Given the description of an element on the screen output the (x, y) to click on. 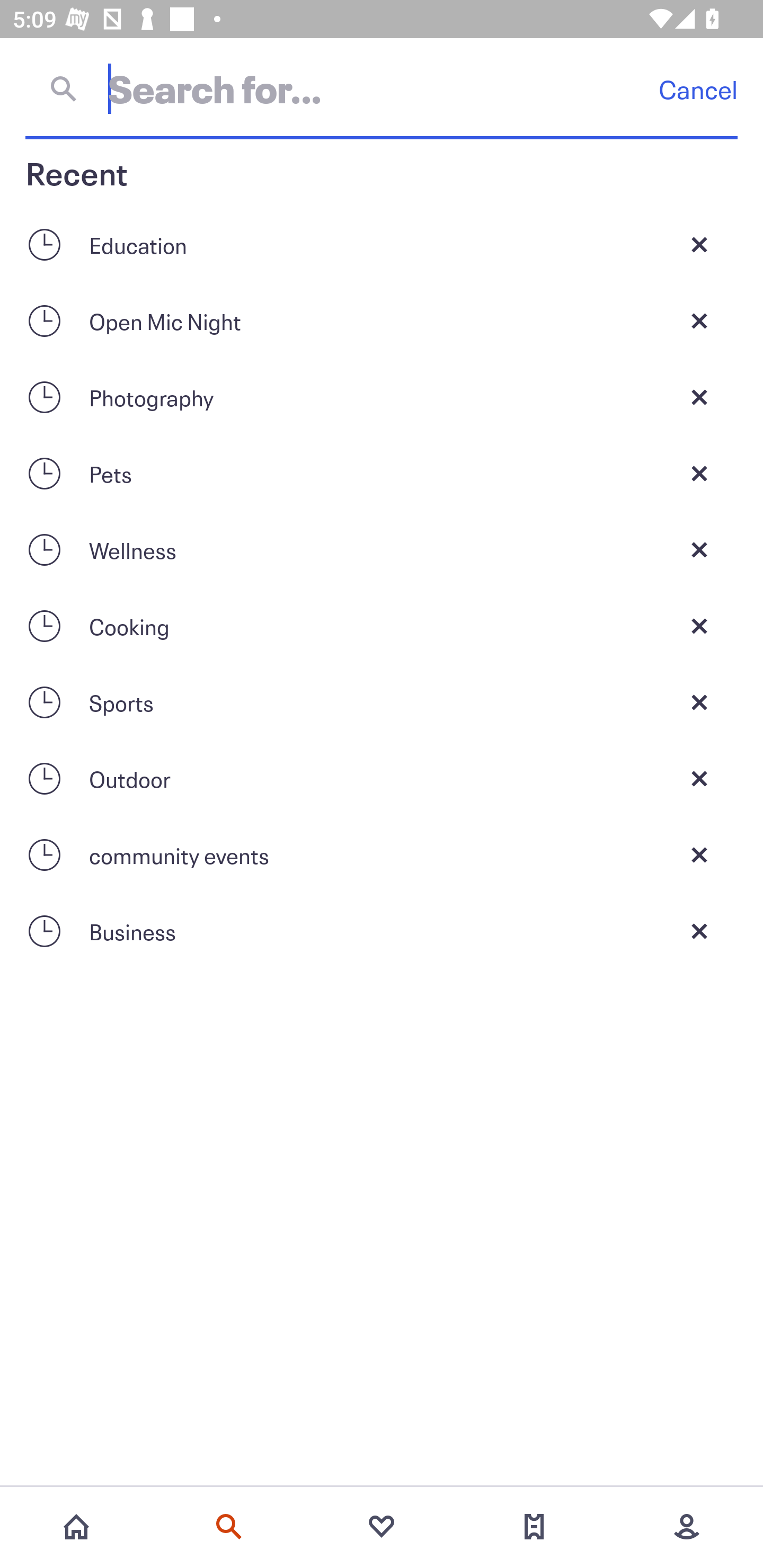
Cancel Search for… (381, 88)
Cancel (697, 89)
Education Close current screen (381, 244)
Close current screen (699, 244)
Open Mic Night Close current screen (381, 320)
Close current screen (699, 320)
Photography Close current screen (381, 397)
Close current screen (699, 397)
Pets Close current screen (381, 473)
Close current screen (699, 473)
Wellness Close current screen (381, 549)
Close current screen (699, 549)
Cooking Close current screen (381, 626)
Close current screen (699, 626)
Sports Close current screen (381, 702)
Close current screen (699, 702)
Outdoor Close current screen (381, 778)
Close current screen (699, 778)
community events Close current screen (381, 854)
Close current screen (699, 854)
Business Close current screen (381, 931)
Close current screen (699, 931)
Home (76, 1526)
Search events (228, 1526)
Favorites (381, 1526)
Tickets (533, 1526)
More (686, 1526)
